Given the description of an element on the screen output the (x, y) to click on. 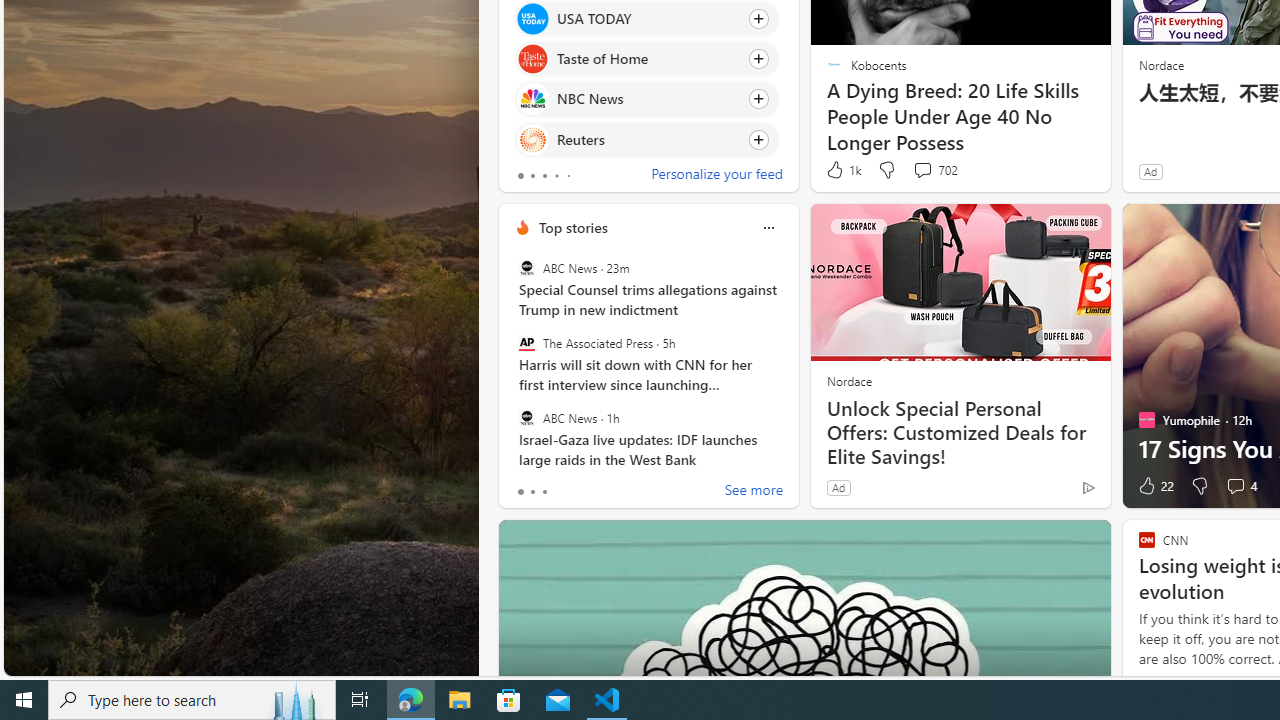
Reuters (532, 139)
NBC News (532, 98)
View comments 702 Comment (934, 170)
Click to follow source USA TODAY (646, 18)
tab-1 (532, 491)
View comments 4 Comment (1234, 485)
tab-3 (556, 175)
1k Like (842, 170)
USA TODAY (532, 18)
Class: icon-img (768, 228)
tab-0 (520, 491)
22 Like (1154, 485)
